Given the description of an element on the screen output the (x, y) to click on. 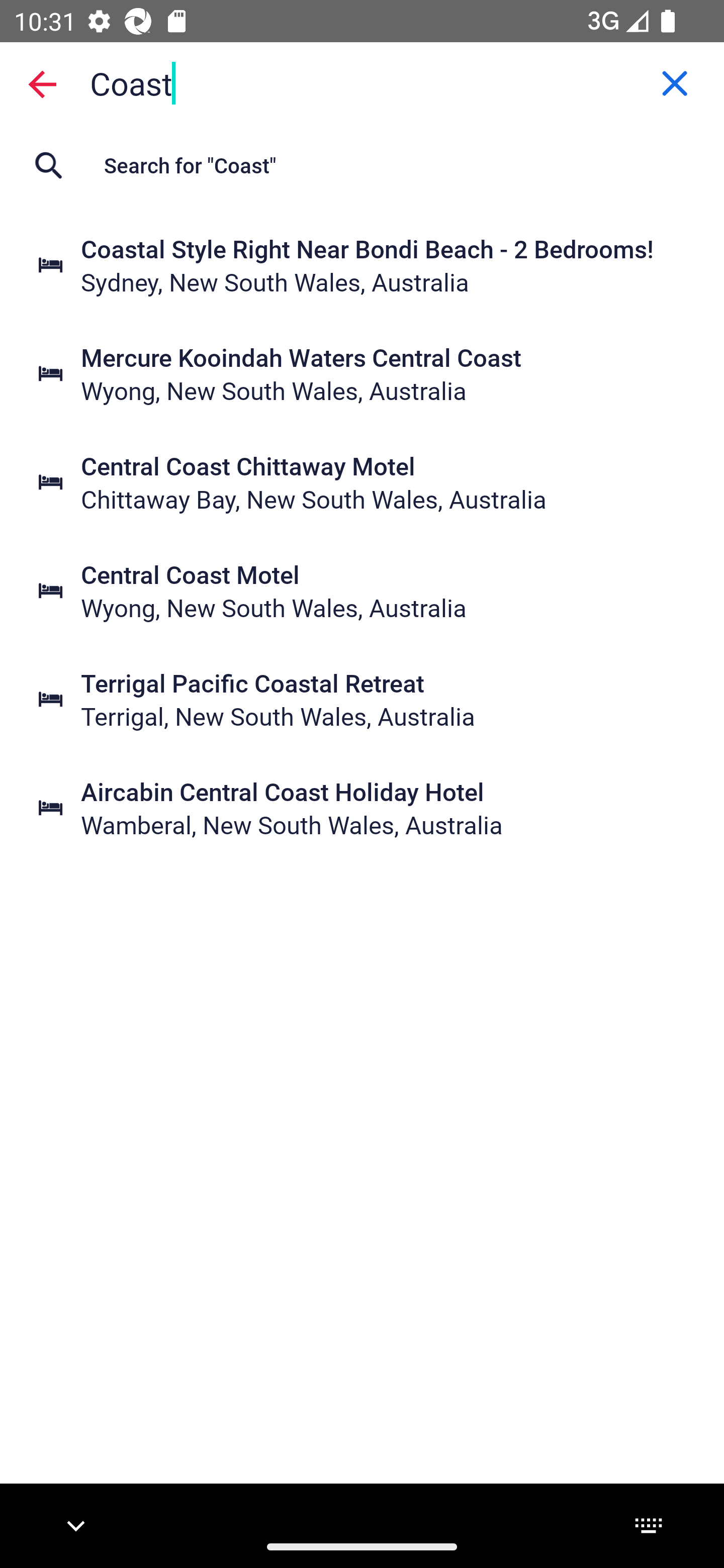
Clear query (674, 82)
Property name, Coast (361, 82)
Back to search screen (41, 83)
Search for "Coast" (362, 165)
